Given the description of an element on the screen output the (x, y) to click on. 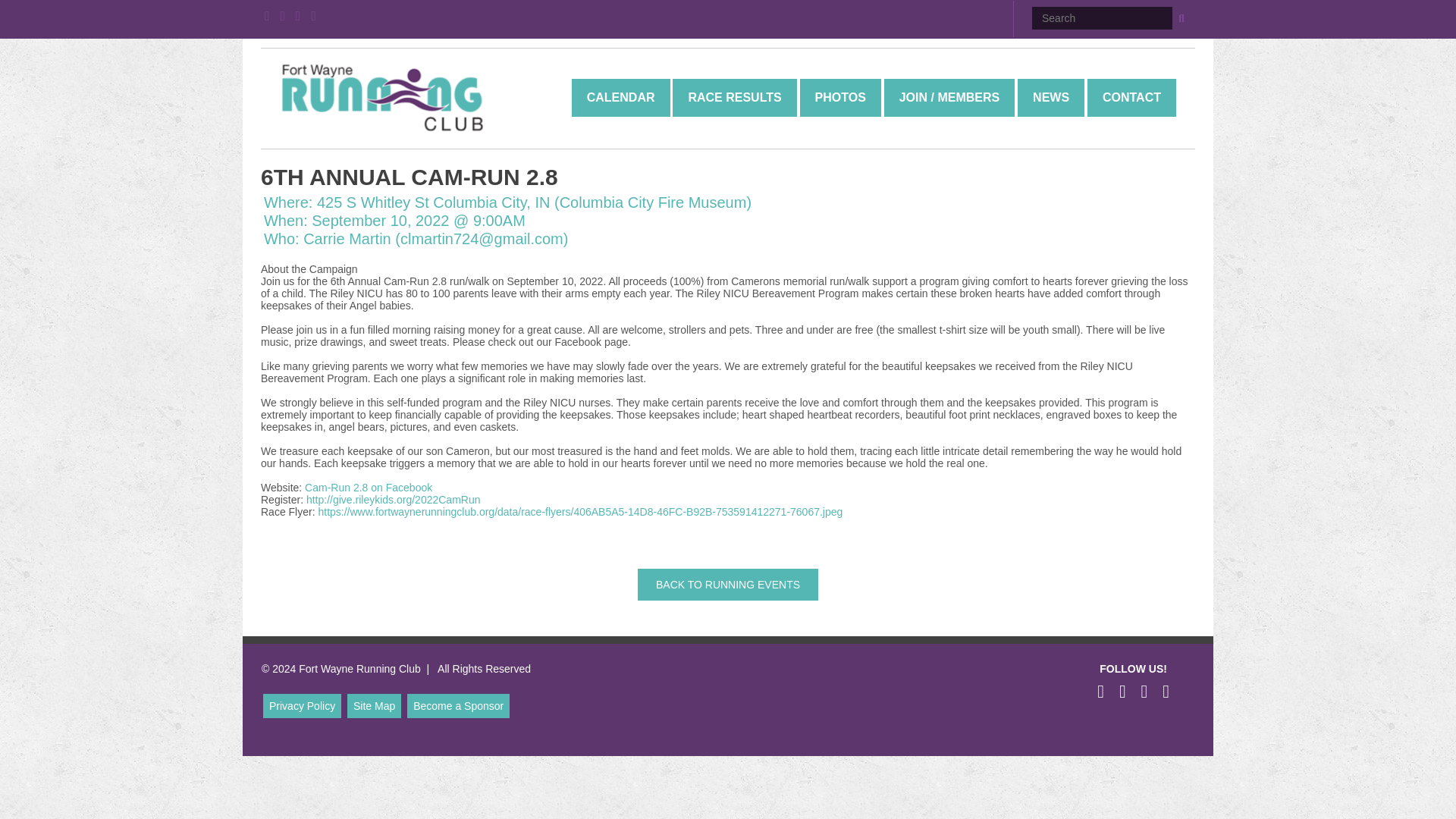
Fort Wayne Running Club (381, 97)
